Given the description of an element on the screen output the (x, y) to click on. 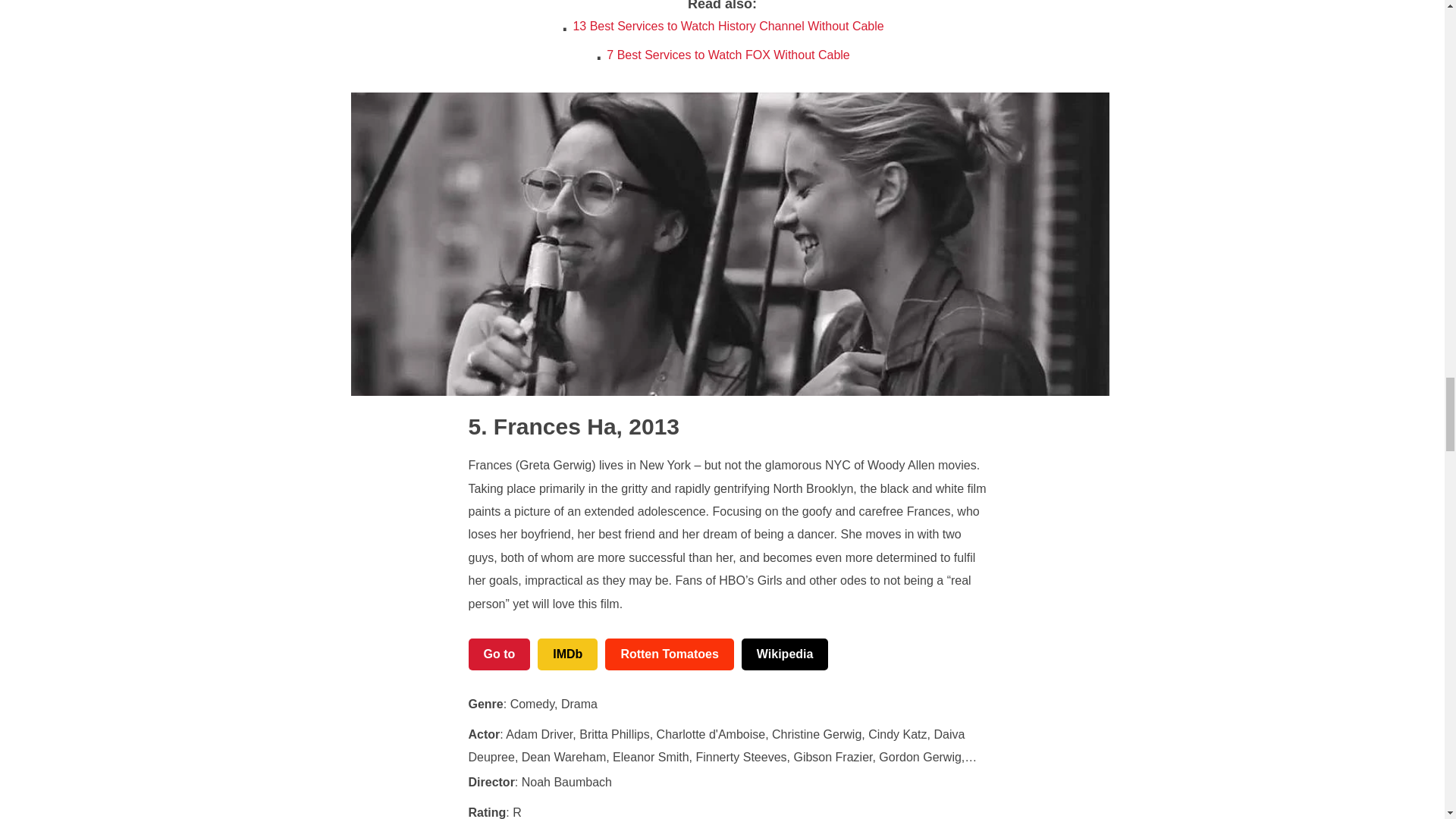
Frances Ha (541, 426)
